Given the description of an element on the screen output the (x, y) to click on. 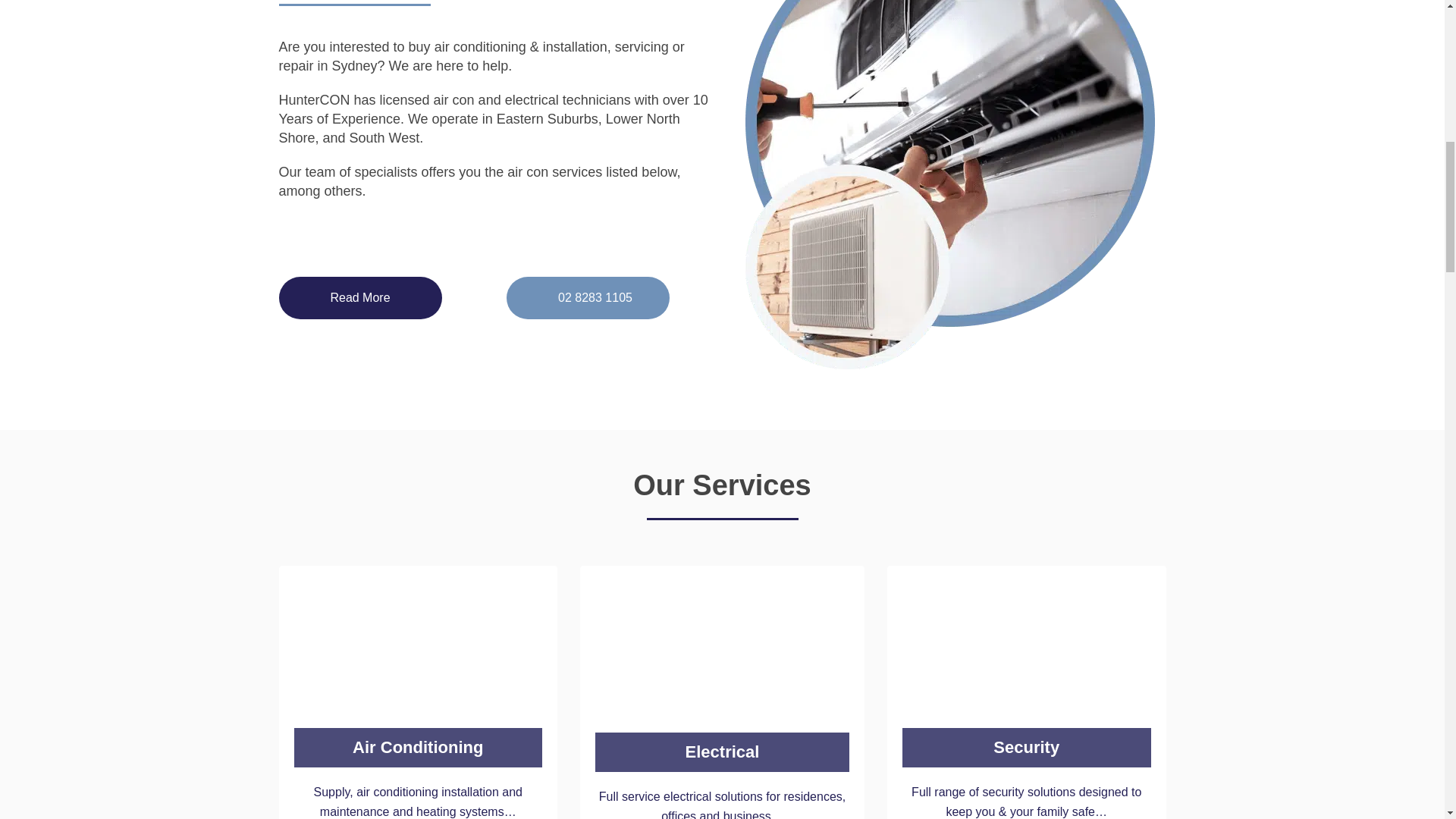
Homepage 3 (1026, 673)
Homepage 1 (418, 673)
Homepage 2 (721, 675)
